Given the description of an element on the screen output the (x, y) to click on. 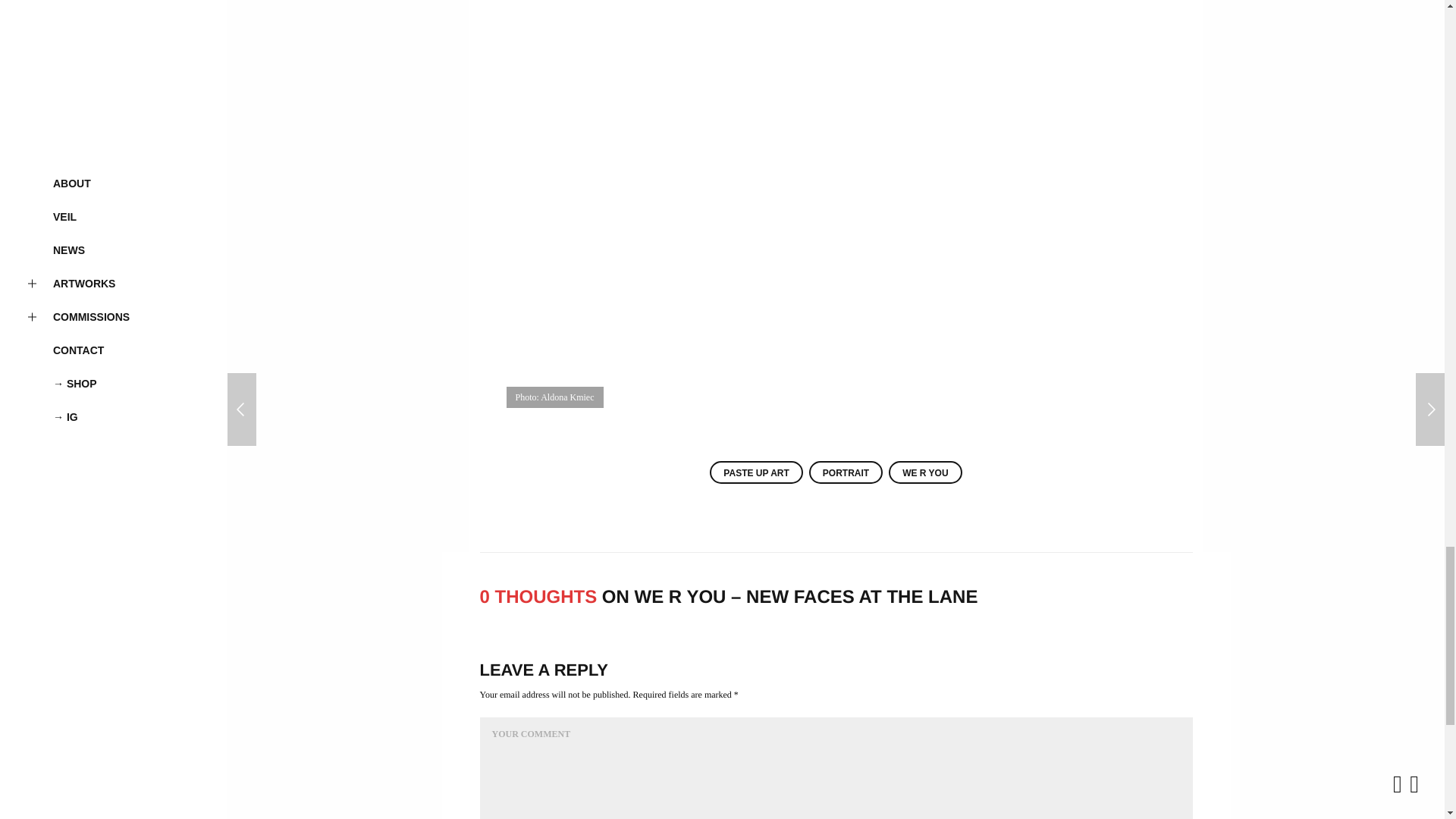
WE R YOU (924, 472)
PORTRAIT (845, 472)
PASTE UP ART (756, 472)
